Given the description of an element on the screen output the (x, y) to click on. 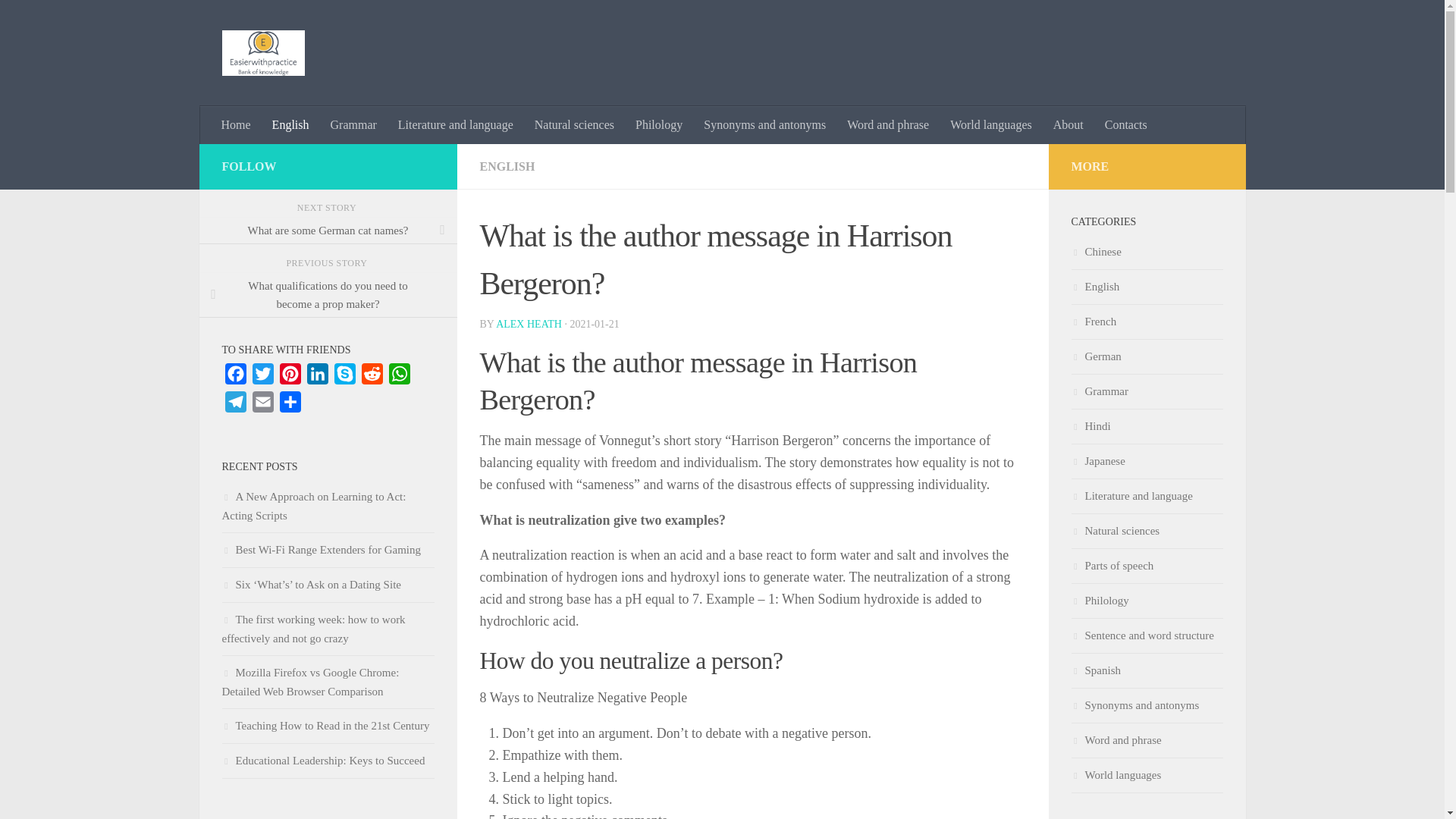
Home (236, 125)
Facebook (234, 377)
ENGLISH (506, 165)
Skype (344, 377)
Reddit (371, 377)
Skip to content (59, 20)
World languages (990, 125)
Contacts (1125, 125)
Word and phrase (887, 125)
Twitter (262, 377)
What are some German cat names? (327, 230)
Natural sciences (574, 125)
About (1068, 125)
Grammar (353, 125)
ALEX HEATH (529, 324)
